Given the description of an element on the screen output the (x, y) to click on. 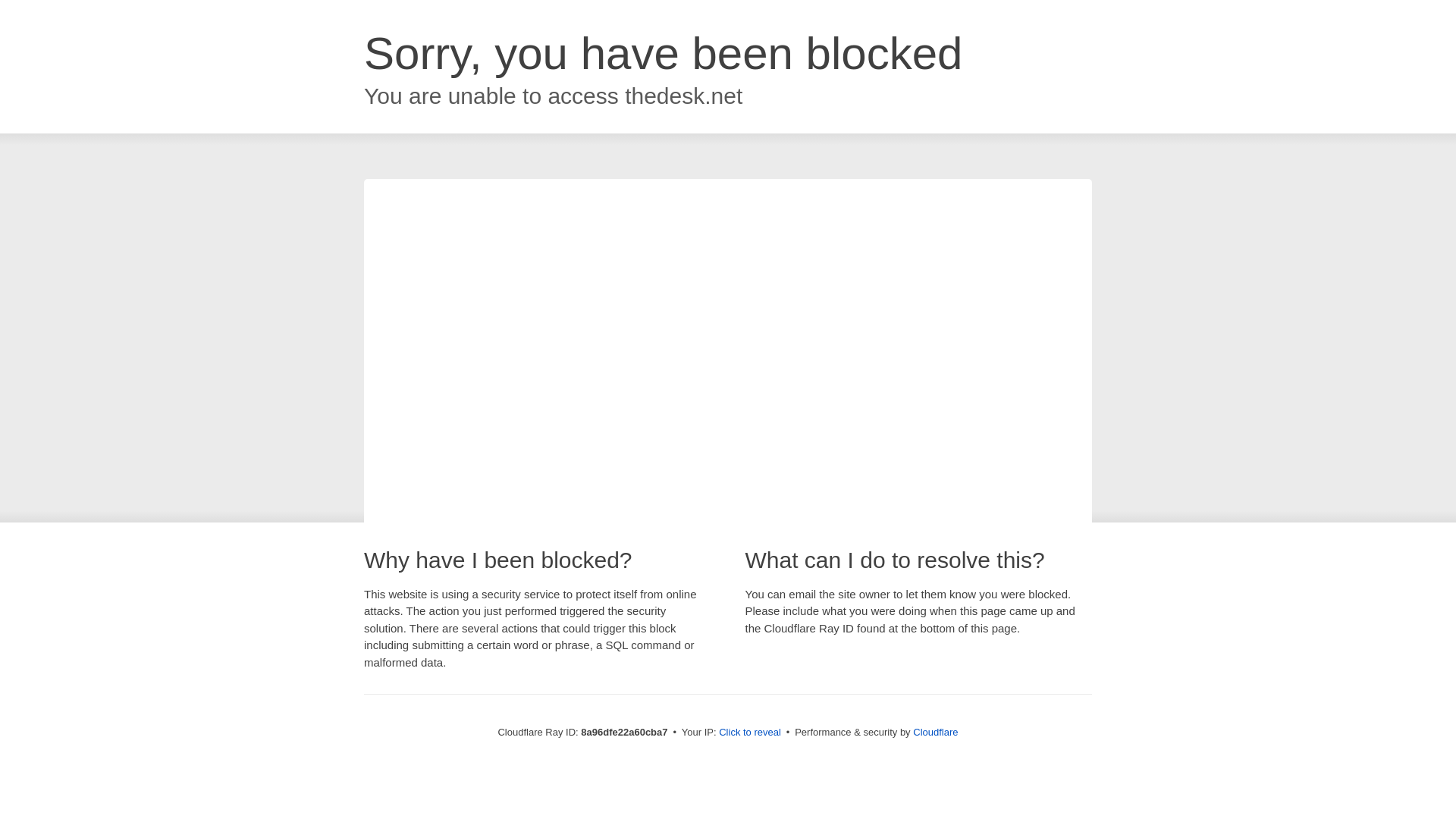
Cloudflare (935, 731)
Click to reveal (749, 732)
